Given the description of an element on the screen output the (x, y) to click on. 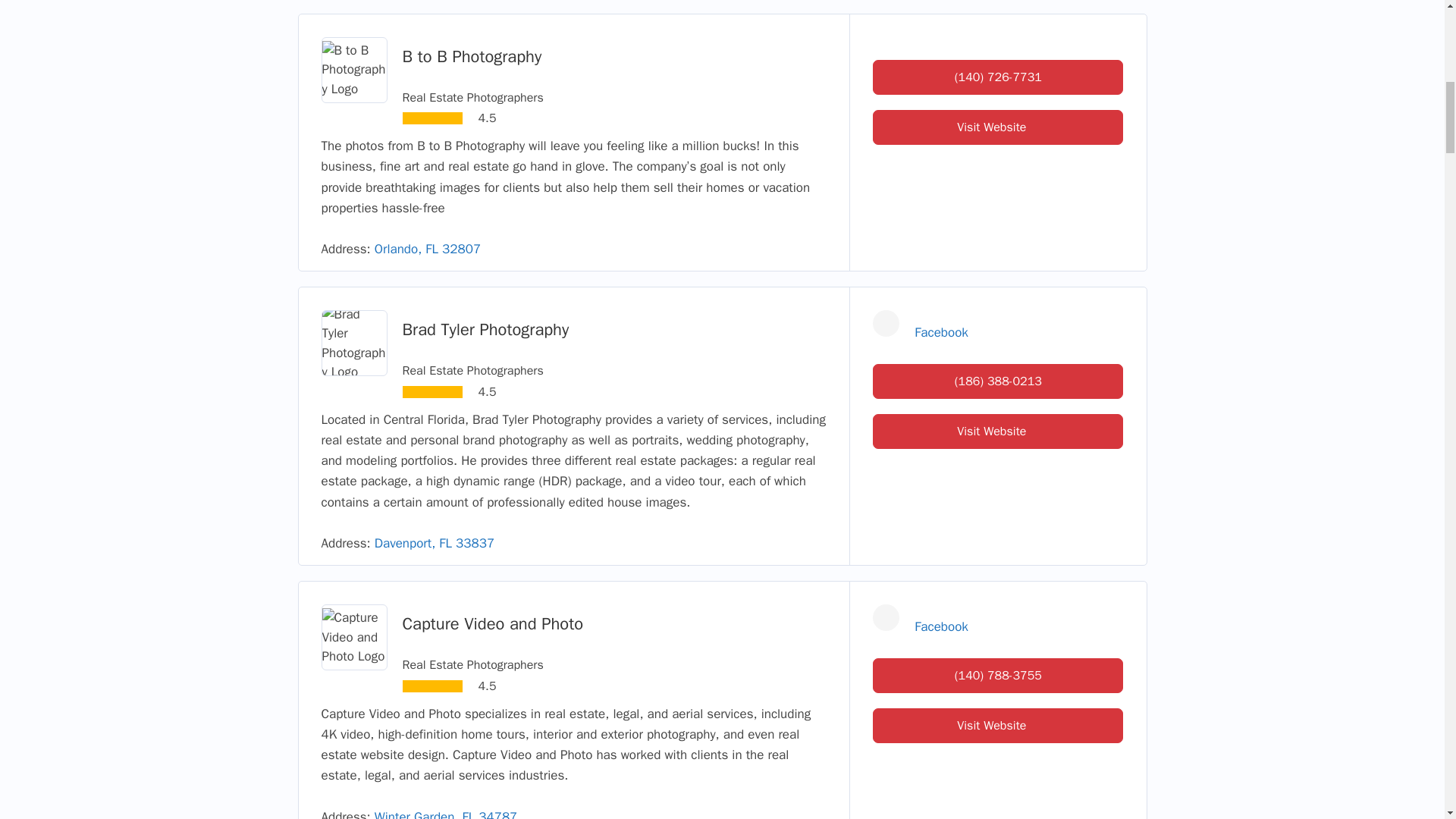
Facebook (941, 626)
Facebook (941, 332)
Visit Website (997, 126)
Brad Tyler Photography (485, 329)
B to B Photography (471, 56)
Winter Garden, FL 34787 (445, 813)
Visit Website (997, 431)
Orlando, FL 32807 (427, 248)
Davenport, FL 33837 (434, 543)
Capture Video and Photo (492, 623)
